Given the description of an element on the screen output the (x, y) to click on. 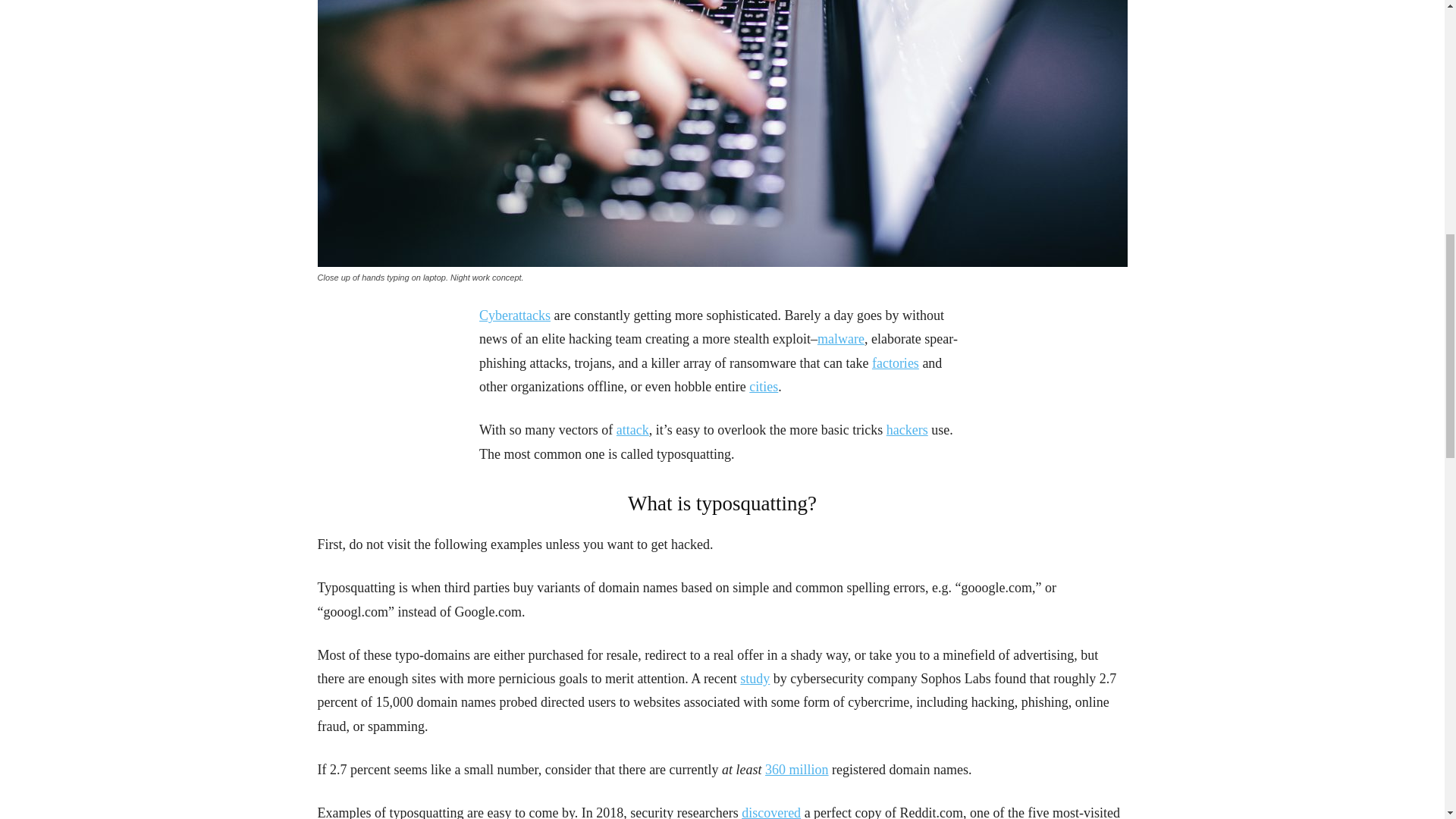
cities (763, 386)
factories (895, 363)
malware (840, 338)
Cyberattacks (514, 314)
